Given the description of an element on the screen output the (x, y) to click on. 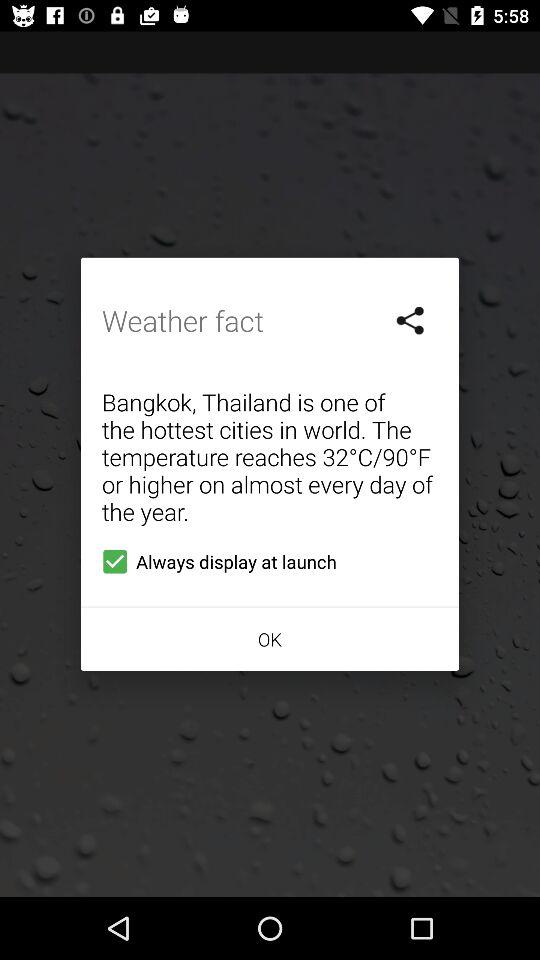
choose item on the right (411, 320)
